Given the description of an element on the screen output the (x, y) to click on. 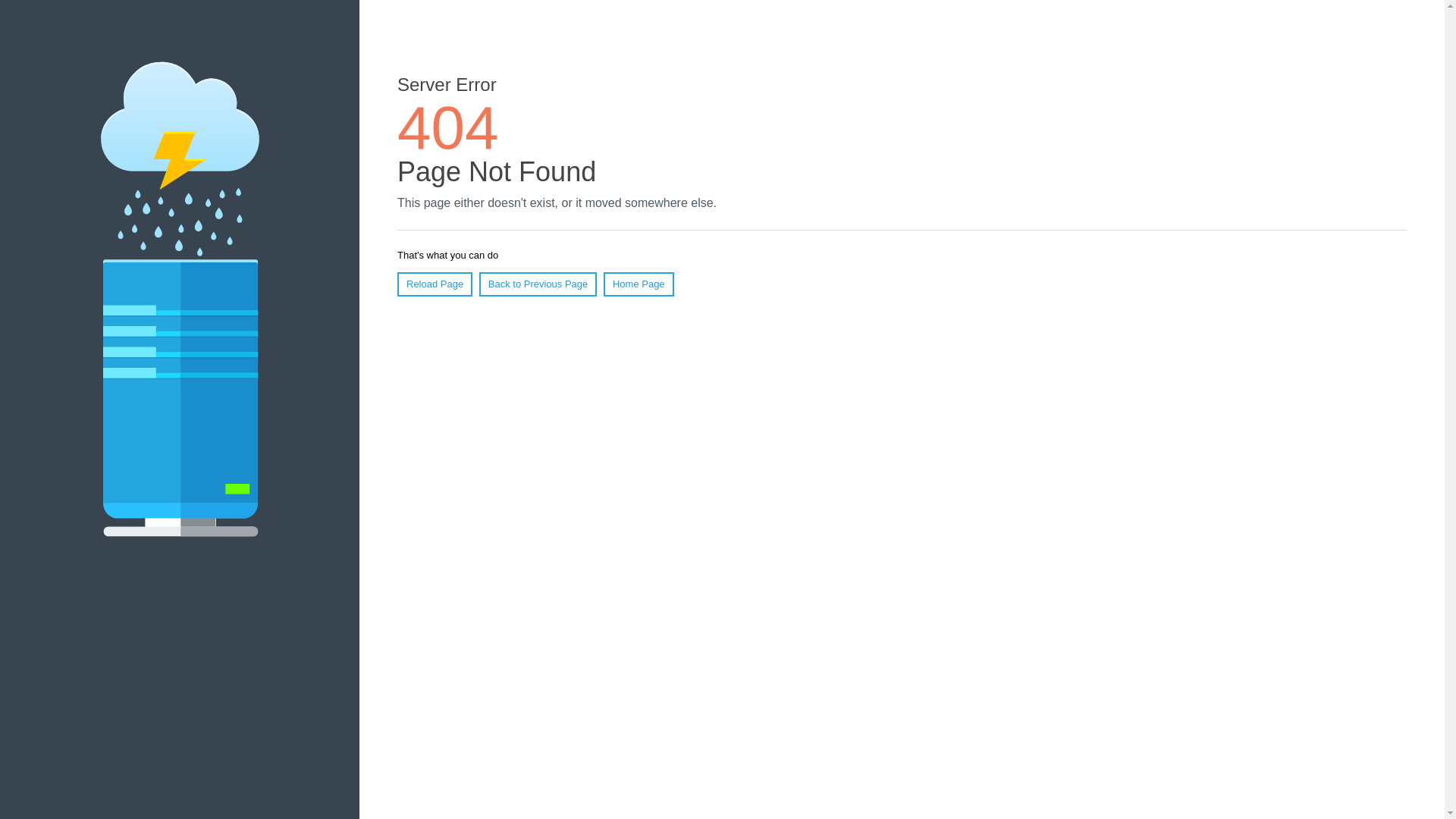
Reload Page Element type: text (434, 284)
Back to Previous Page Element type: text (538, 284)
Home Page Element type: text (638, 284)
